Given the description of an element on the screen output the (x, y) to click on. 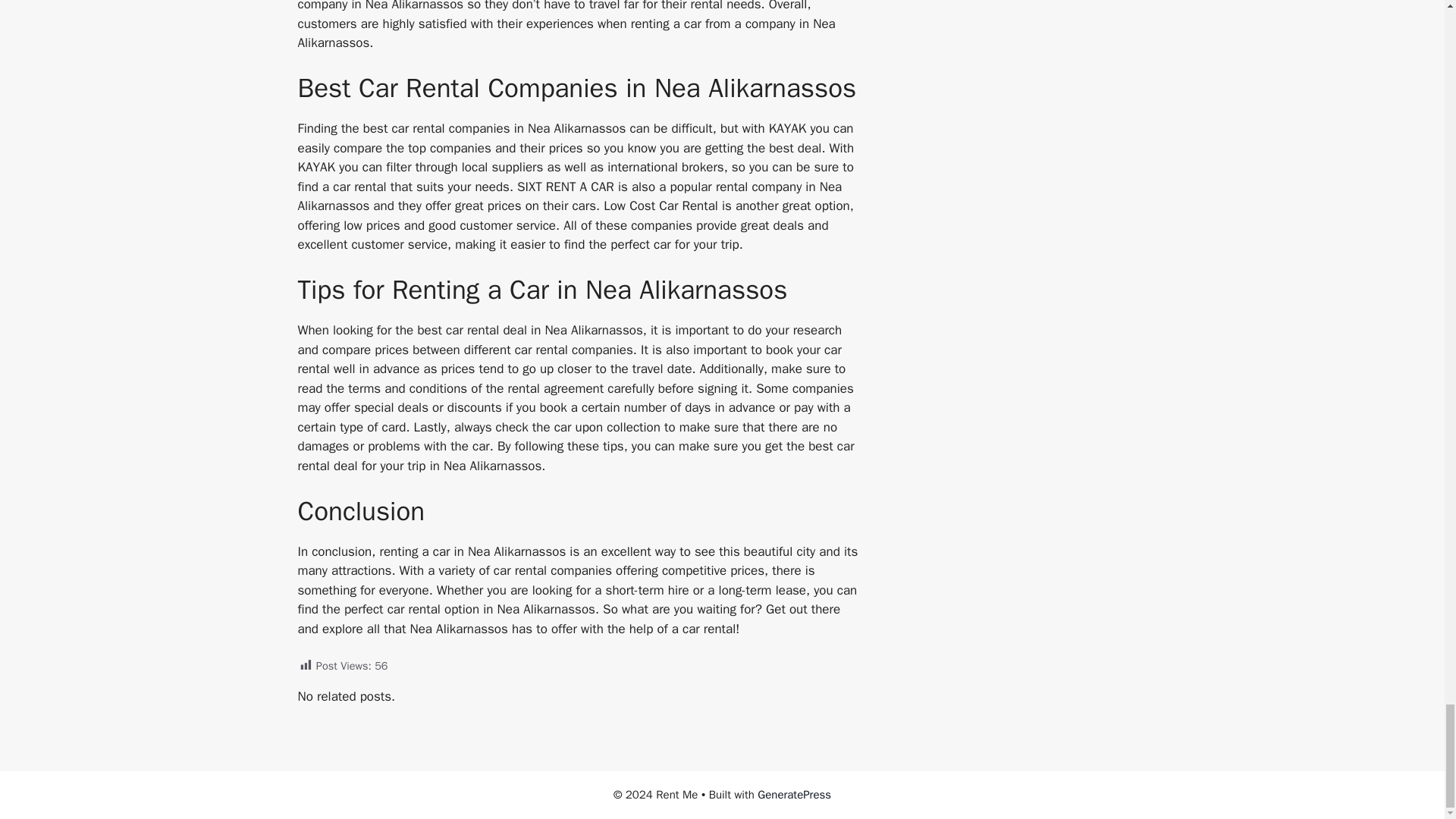
GeneratePress (794, 794)
